Given the description of an element on the screen output the (x, y) to click on. 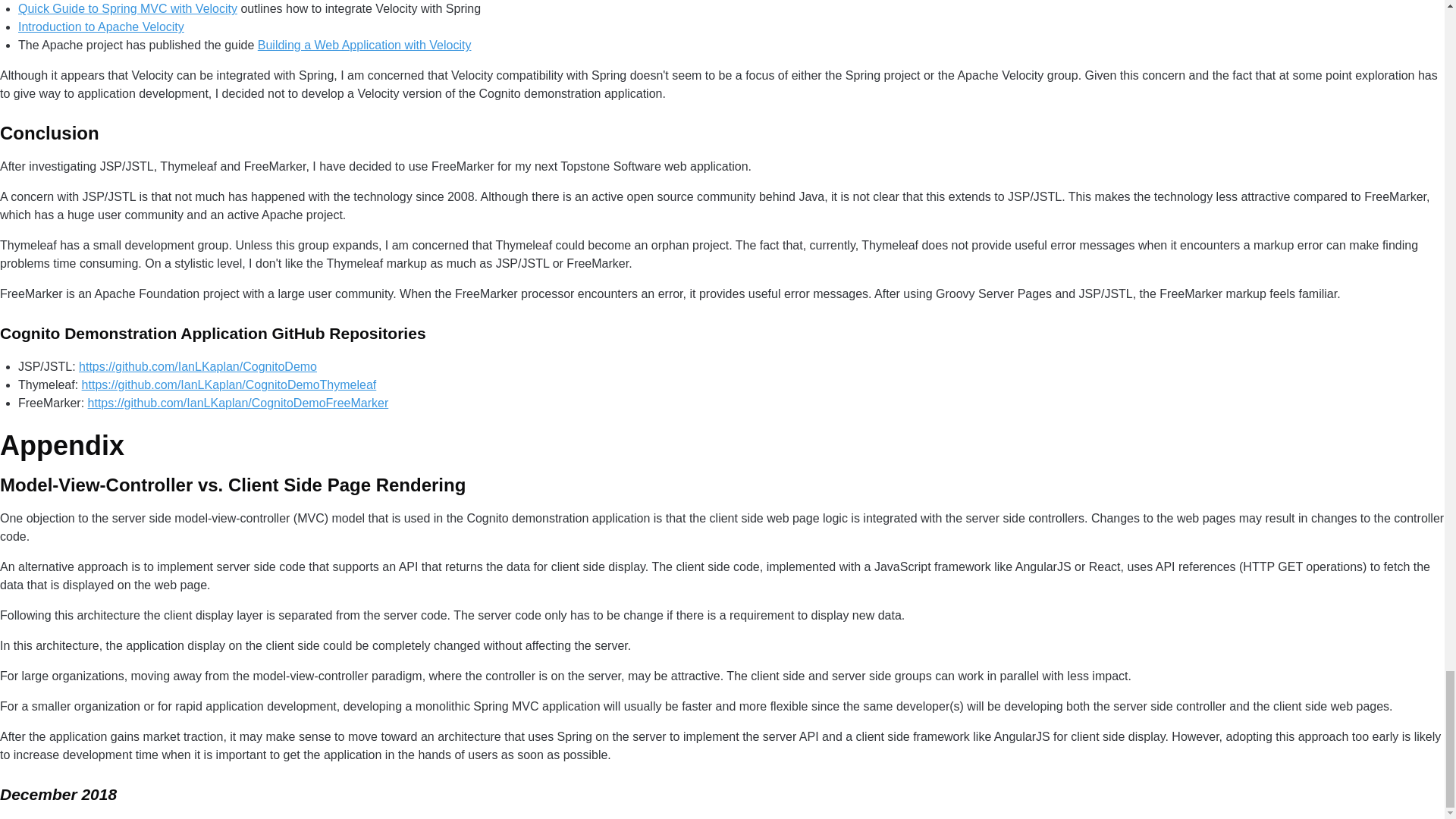
Building a Web Application with Velocity (364, 44)
Introduction to Apache Velocity (100, 26)
Quick Guide to Spring MVC with Velocity (127, 8)
